Given the description of an element on the screen output the (x, y) to click on. 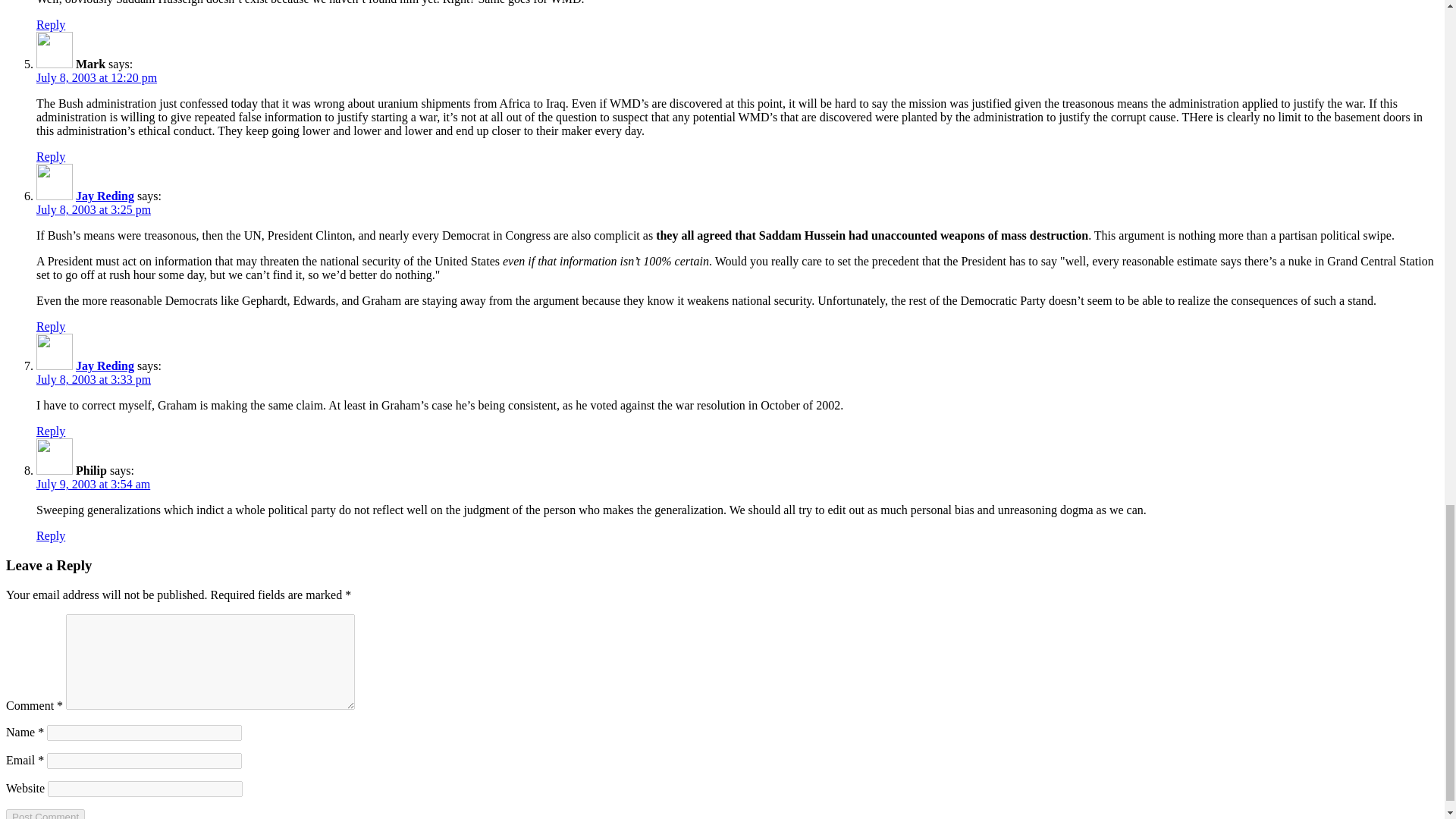
July 9, 2003 at 3:54 am (92, 483)
Jay Reding (104, 195)
Reply (50, 431)
Reply (50, 326)
July 8, 2003 at 3:33 pm (93, 379)
July 8, 2003 at 3:25 pm (93, 209)
Jay Reding (104, 365)
July 8, 2003 at 12:20 pm (96, 77)
Reply (50, 155)
Reply (50, 535)
Reply (50, 24)
